Given the description of an element on the screen output the (x, y) to click on. 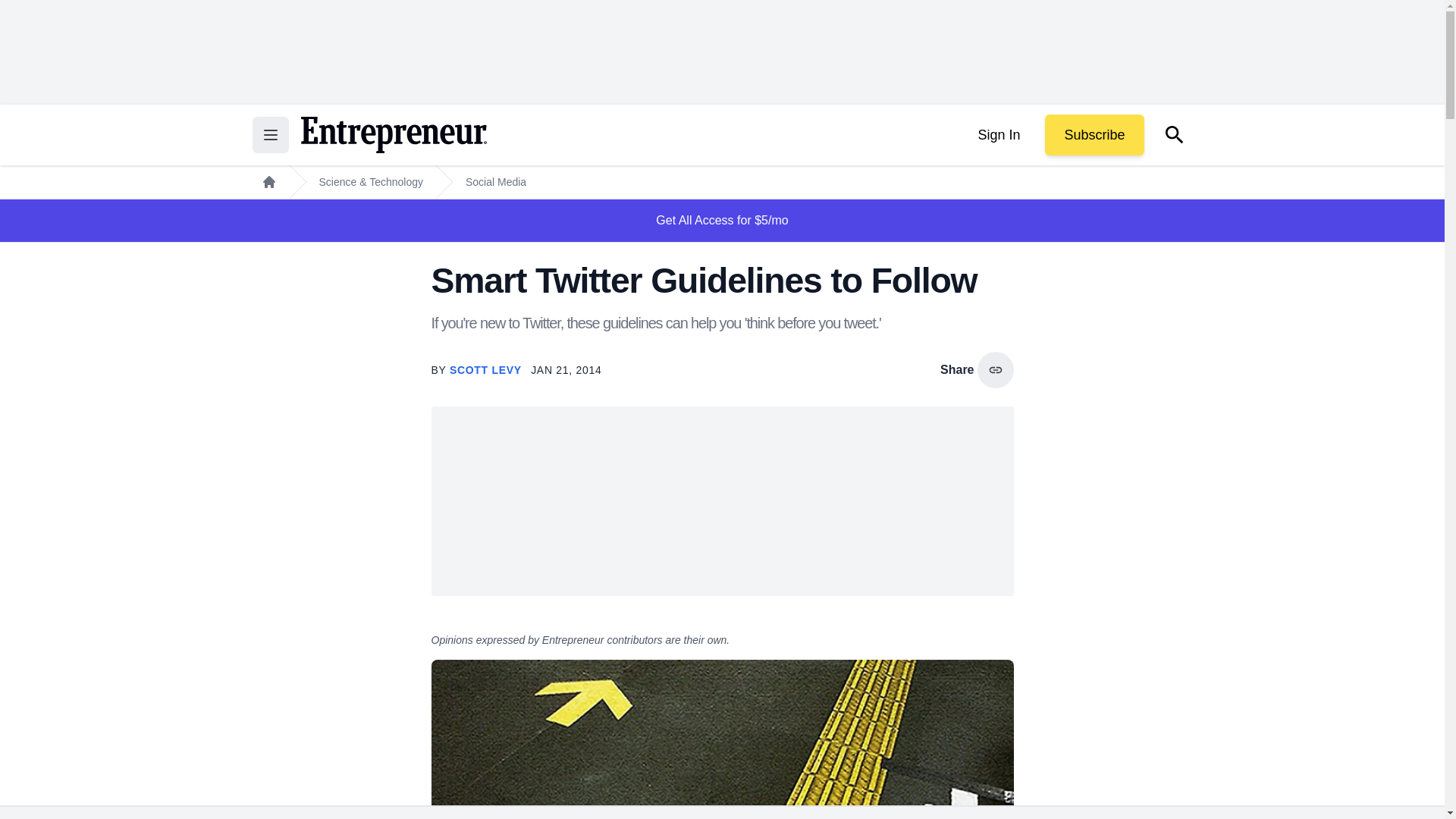
Subscribe (1093, 134)
copy (994, 370)
Sign In (998, 134)
Return to the home page (392, 135)
